Given the description of an element on the screen output the (x, y) to click on. 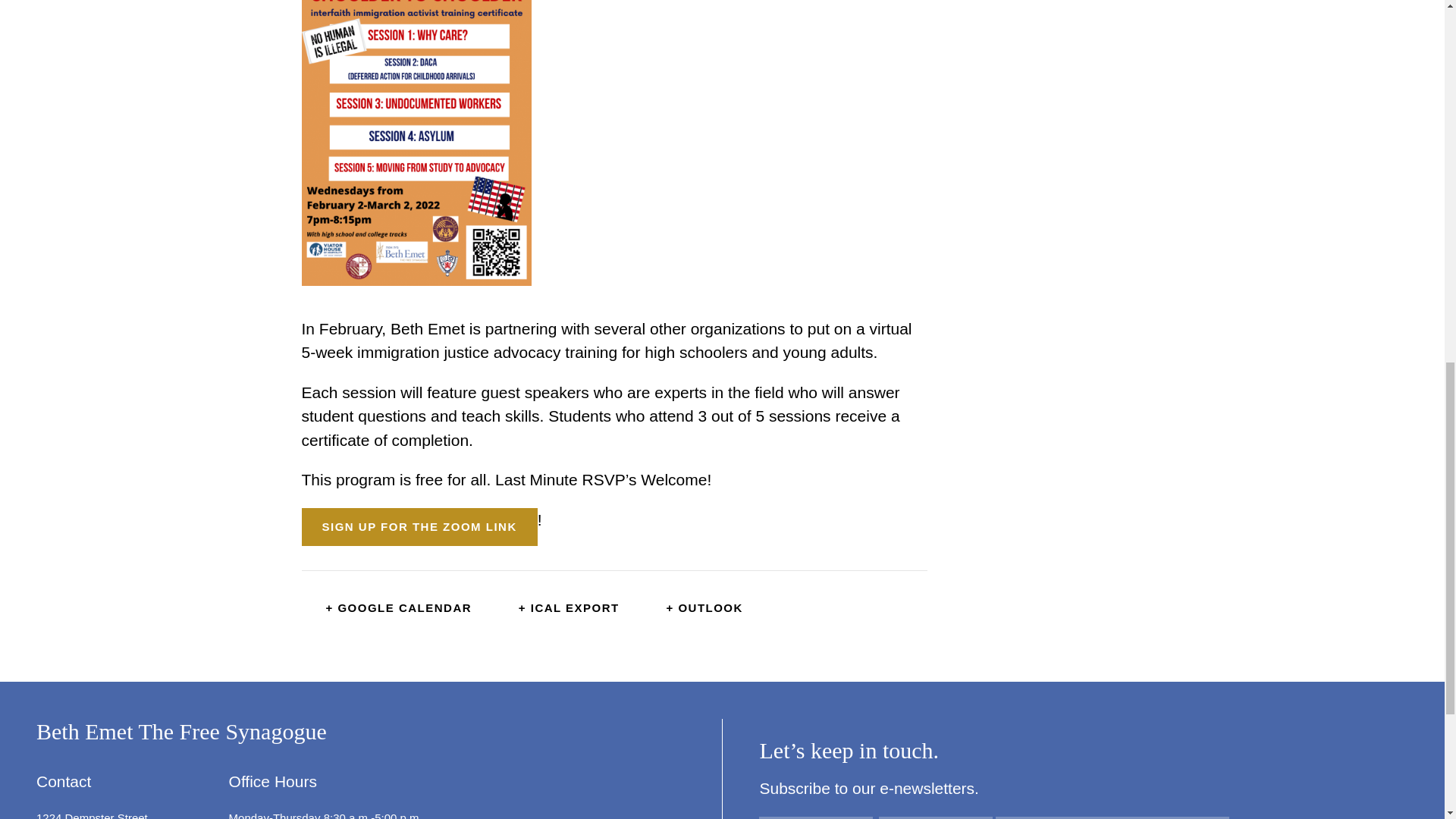
Last Name (935, 817)
Add to Google Calendar (386, 608)
First Name (815, 817)
